Given the description of an element on the screen output the (x, y) to click on. 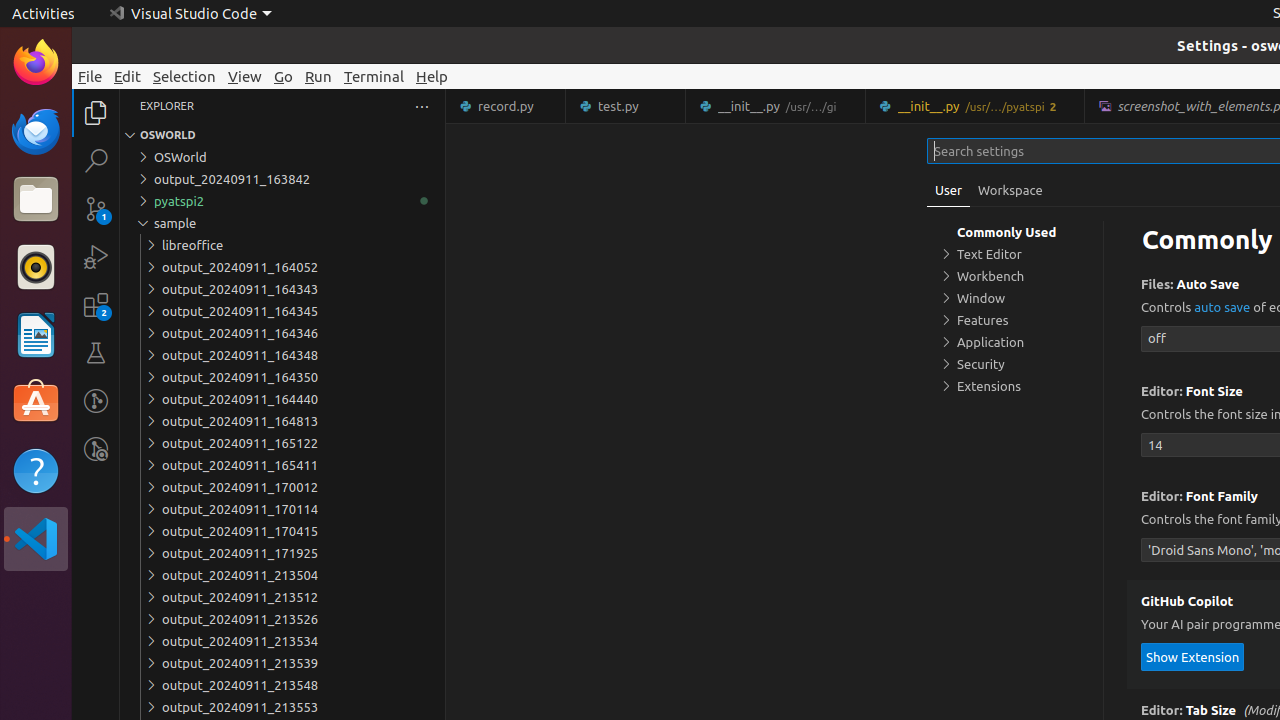
File Element type: push-button (90, 76)
libreoffice Element type: tree-item (282, 245)
output_20240911_164440 Element type: tree-item (282, 399)
output_20240911_164346 Element type: tree-item (282, 333)
